Given the description of an element on the screen output the (x, y) to click on. 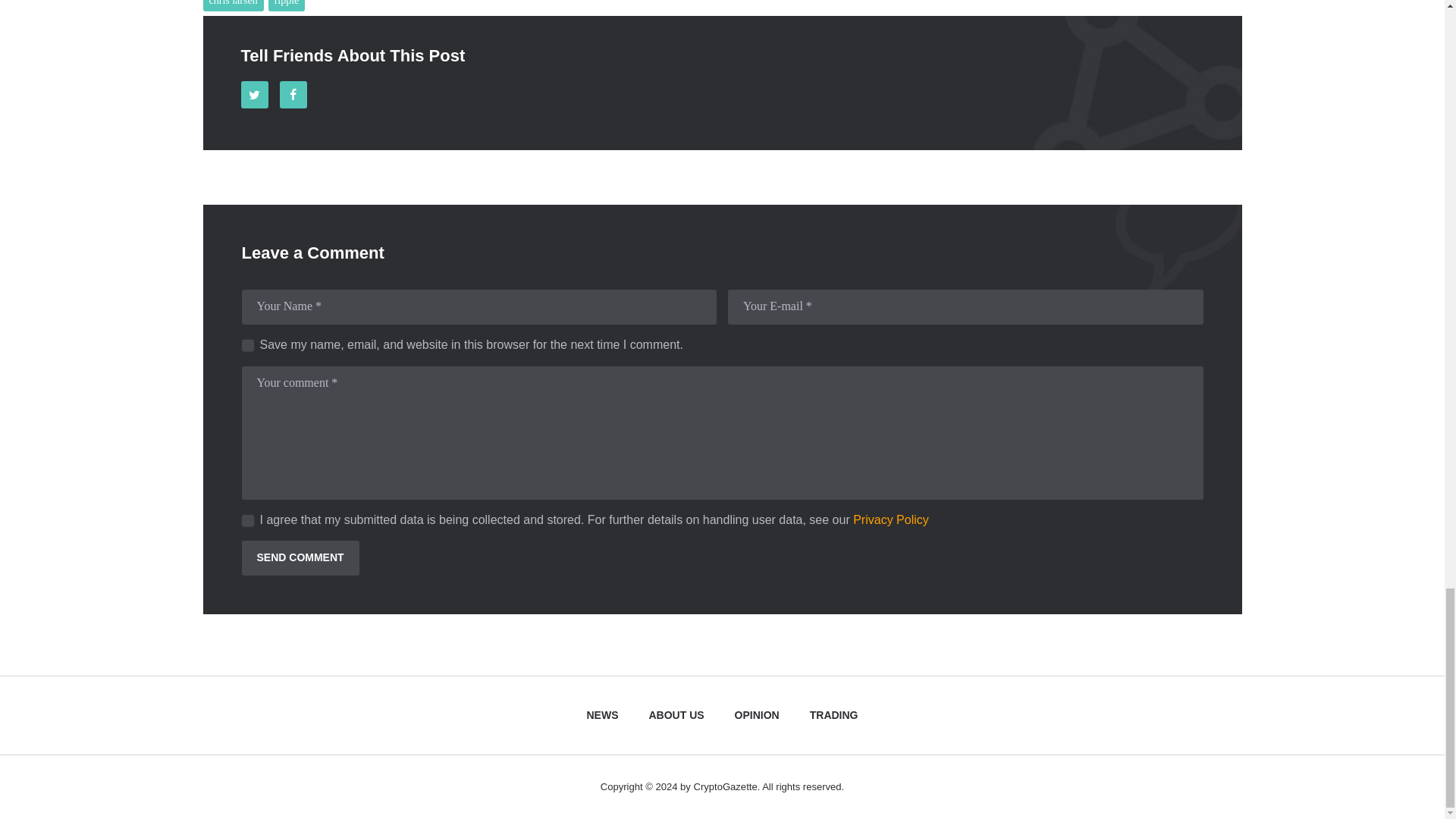
yes (245, 340)
chris larsen (233, 5)
ripple (286, 5)
Send comment (299, 557)
